Given the description of an element on the screen output the (x, y) to click on. 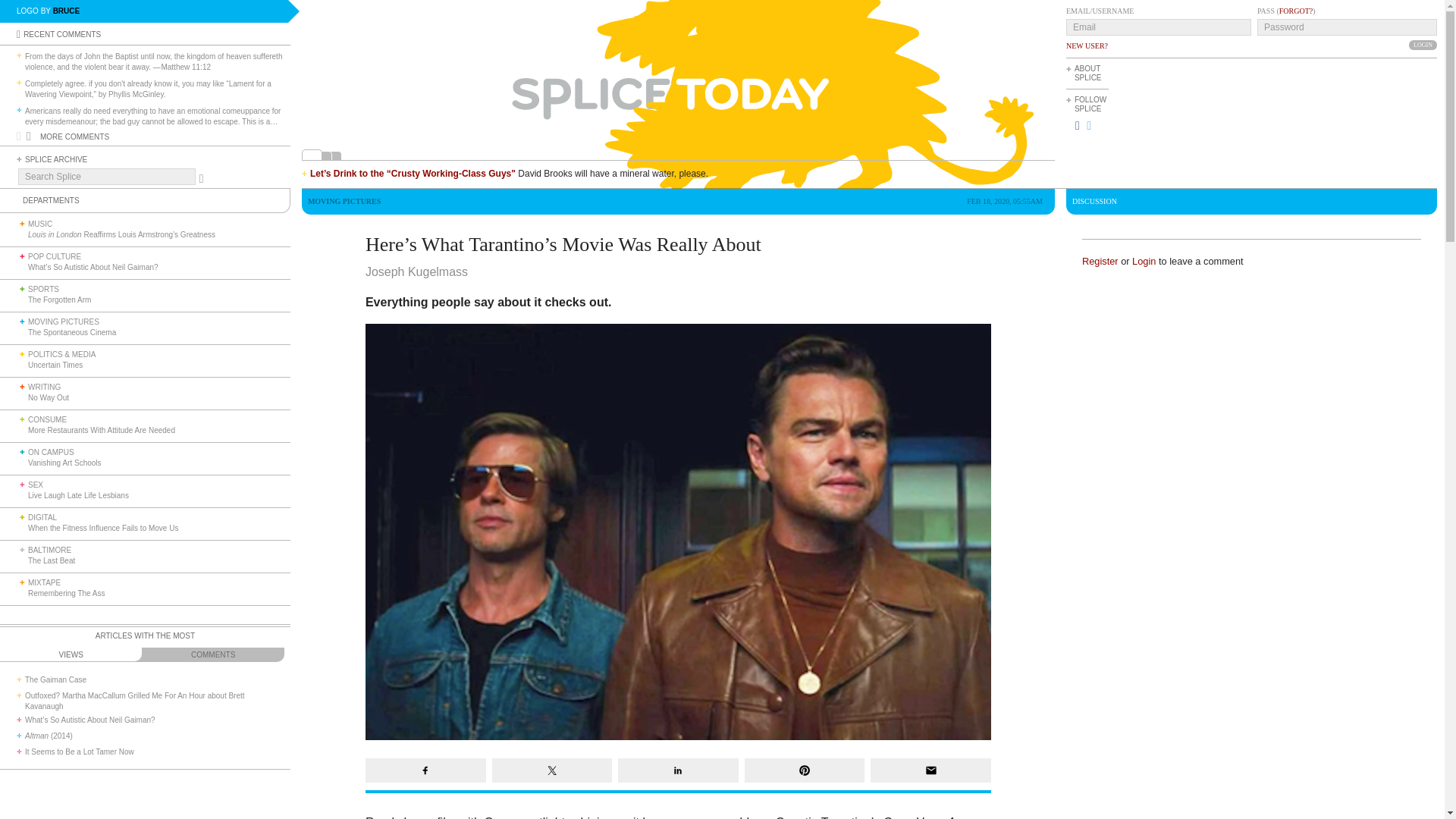
FORGOT? (1296, 10)
ABOUT SPLICE (1088, 72)
Login (1423, 44)
No Way Out (47, 397)
The Spontaneous Cinema (71, 332)
MUSIC (39, 224)
SPORTS (43, 289)
POP CULTURE (54, 256)
The Forgotten Arm (58, 299)
MOVING PICTURES (63, 321)
WRITING (44, 387)
ON CAMPUS (50, 451)
Uncertain Times (54, 365)
BRUCE (66, 10)
SEX (35, 484)
